Given the description of an element on the screen output the (x, y) to click on. 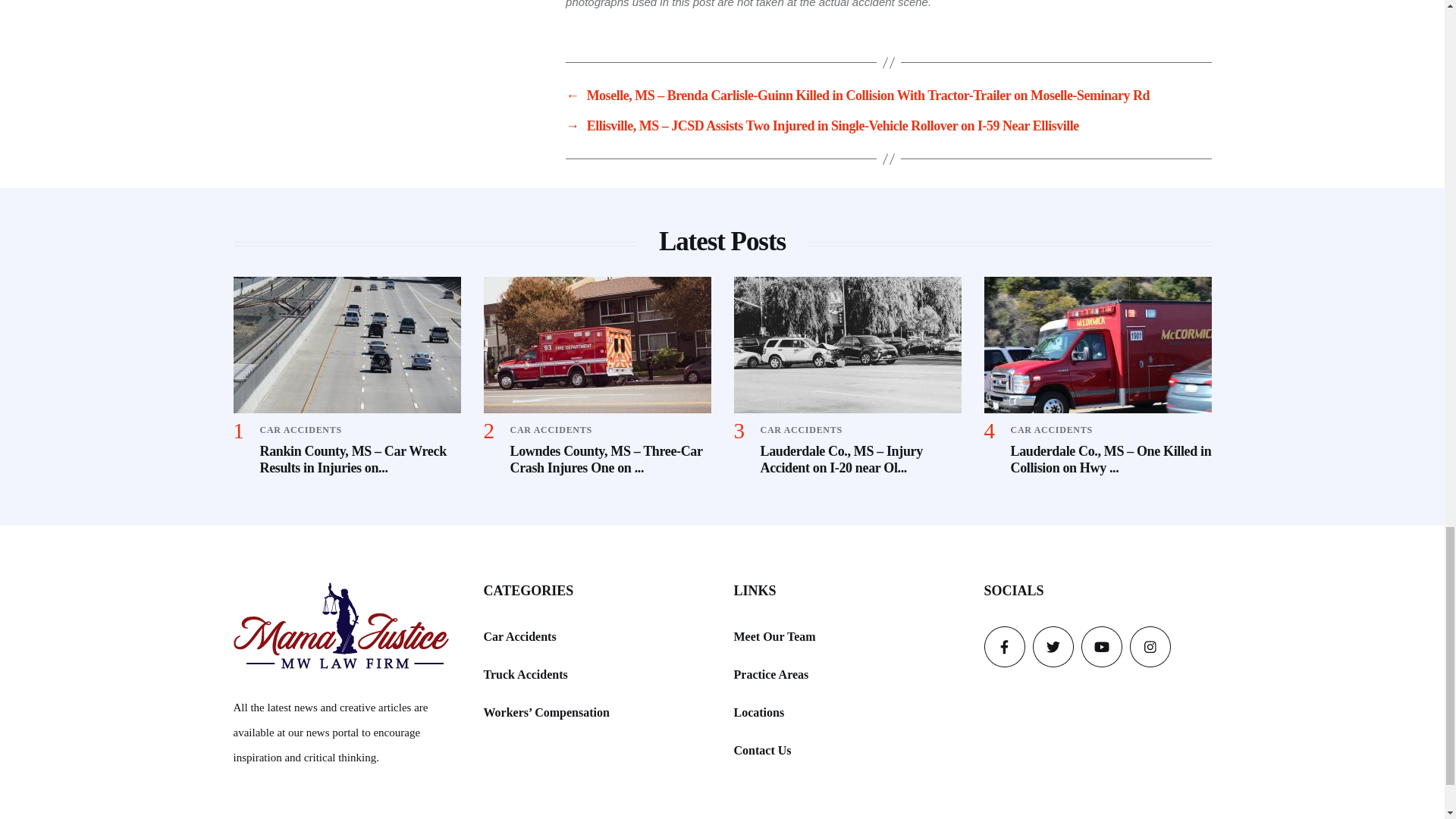
CAR ACCIDENTS (1051, 429)
Car Accidents (519, 636)
CAR ACCIDENTS (550, 429)
CAR ACCIDENTS (800, 429)
CAR ACCIDENTS (299, 429)
Truck Accidents (525, 674)
